Given the description of an element on the screen output the (x, y) to click on. 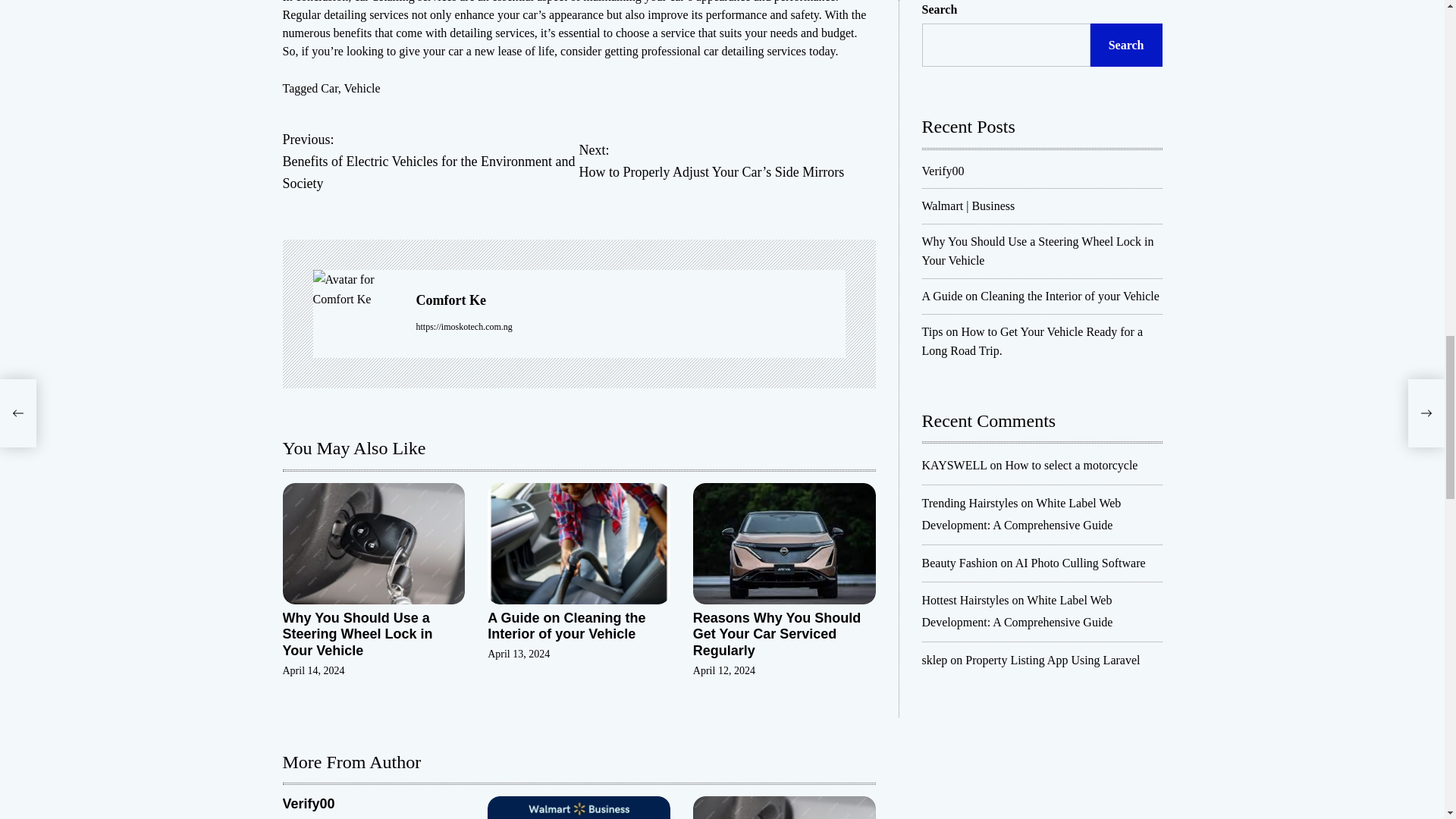
Comfort Ke (629, 300)
Vehicle (361, 88)
Why You Should Use a Steering Wheel Lock in Your Vehicle (357, 634)
April 14, 2024 (312, 670)
Comfort Ke (356, 289)
Comfort Ke (629, 300)
Car (328, 88)
